Given the description of an element on the screen output the (x, y) to click on. 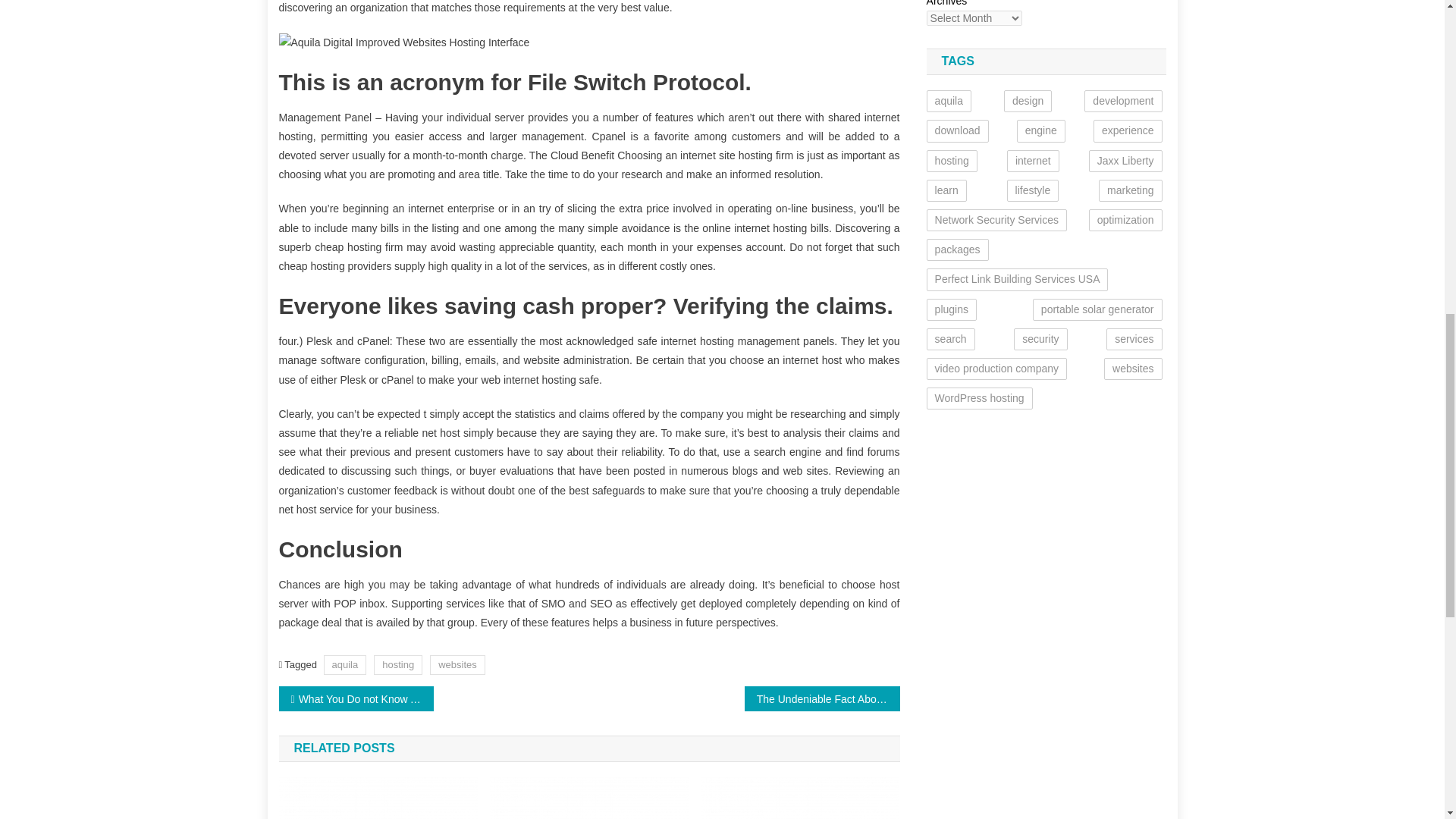
The Aquila Digital Hosting Packages Diaries (378, 798)
Dirty Facts About Web Hosting Revealed (800, 798)
aquila (344, 664)
websites (456, 664)
hosting (398, 664)
